Given the description of an element on the screen output the (x, y) to click on. 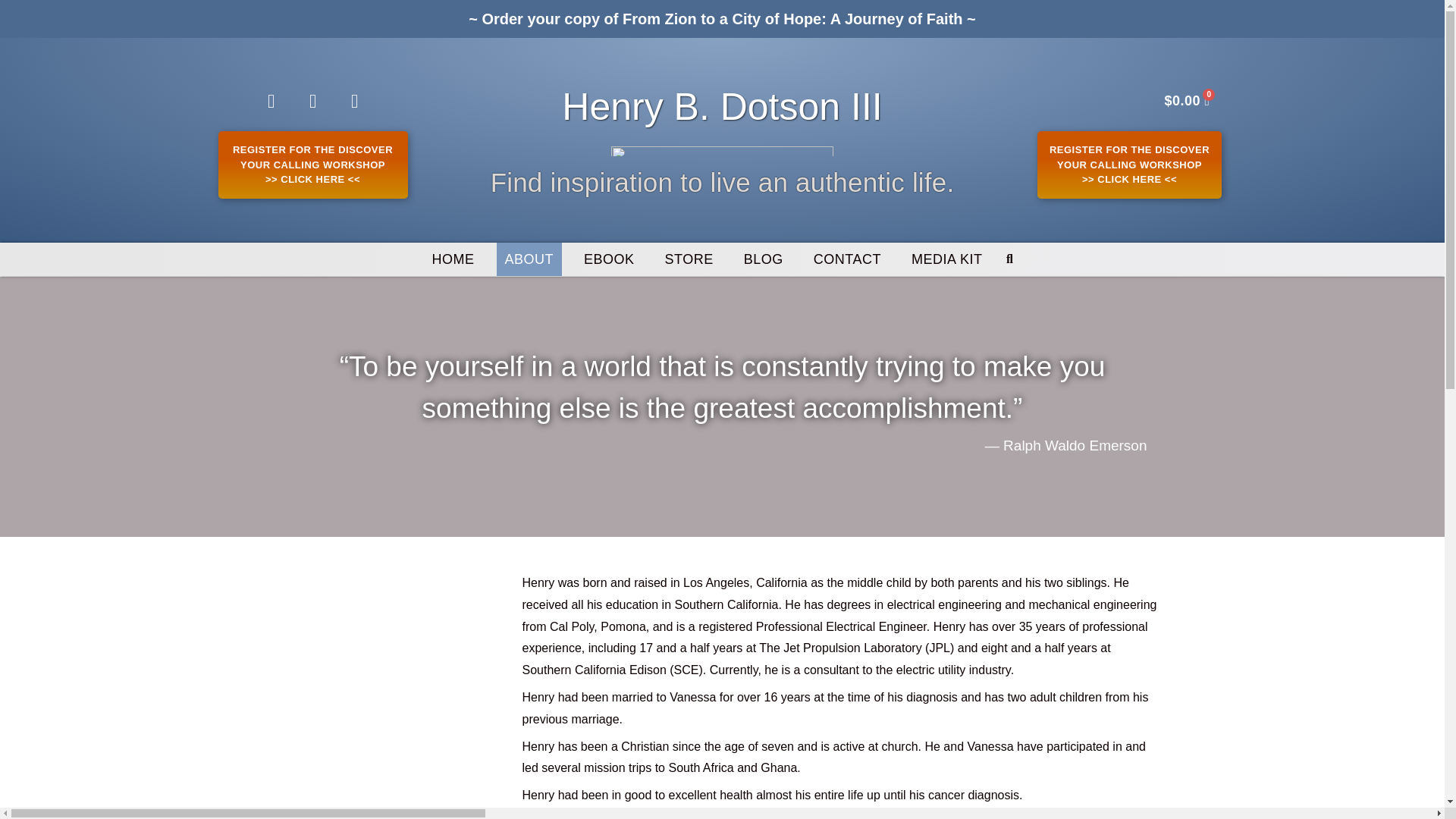
CONTACT (847, 259)
STORE (689, 259)
HOME (453, 259)
ABOUT (529, 259)
Henry B. Dotson III (722, 106)
MEDIA KIT (946, 259)
EBOOK (609, 259)
BLOG (763, 259)
